Given the description of an element on the screen output the (x, y) to click on. 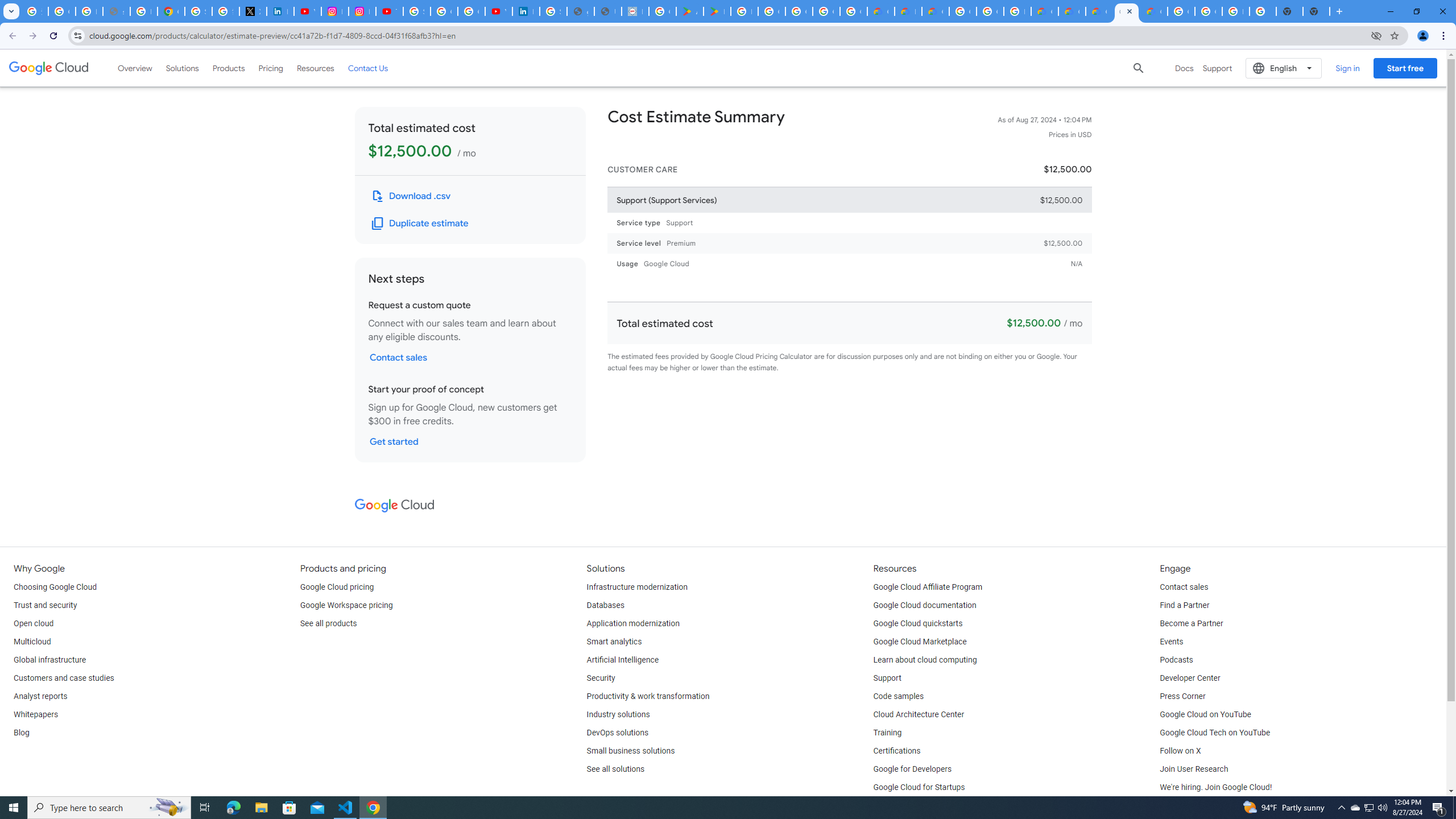
Blog (21, 732)
Infrastructure modernization (637, 587)
Podcasts (1175, 660)
Google for Developers (912, 769)
Sign in - Google Accounts (553, 11)
Customer Care | Google Cloud (880, 11)
Analyst reports (39, 696)
Follow on X (1179, 751)
Docs (1183, 67)
